Given the description of an element on the screen output the (x, y) to click on. 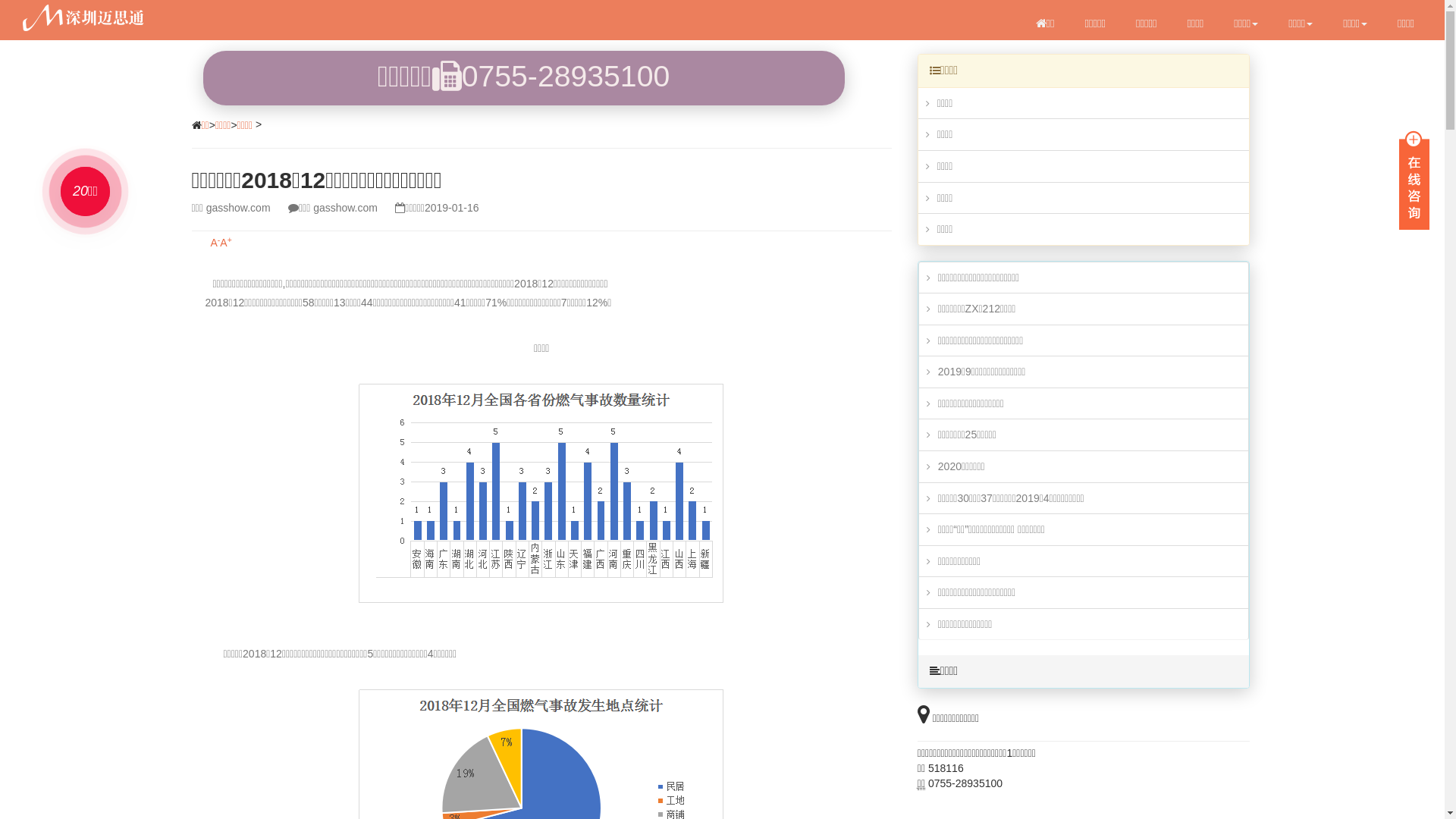
A- Element type: text (215, 242)
A+ Element type: text (225, 242)
